Given the description of an element on the screen output the (x, y) to click on. 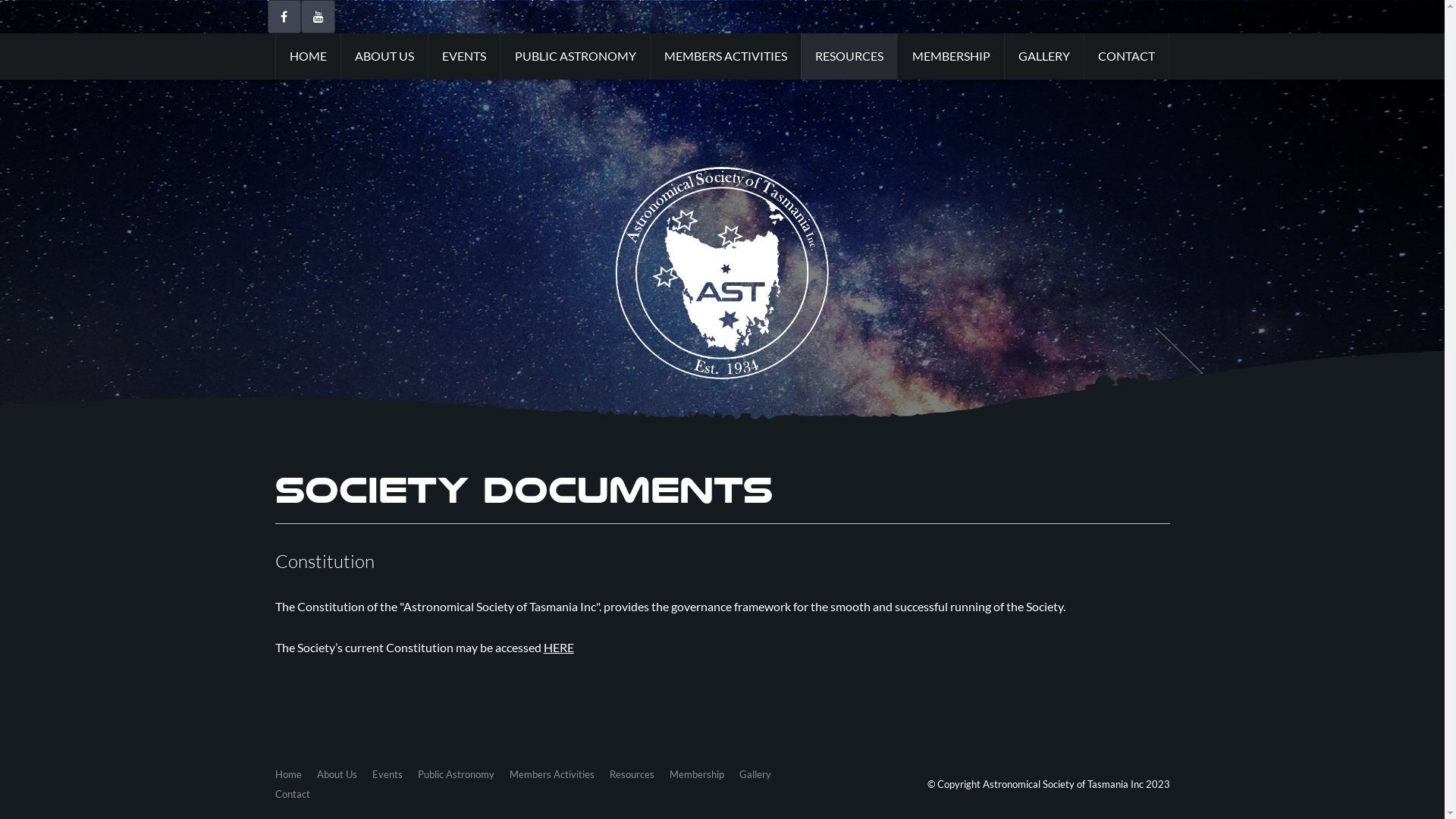
Events Element type: text (386, 774)
Public Astronomy Element type: text (455, 774)
PUBLIC ASTRONOMY Element type: text (574, 56)
CONTACT Element type: text (1126, 56)
Membership Element type: text (696, 774)
HOME Element type: text (306, 56)
RESOURCES Element type: text (848, 56)
MEMBERS ACTIVITIES Element type: text (724, 56)
ABOUT US Element type: text (383, 56)
MEMBERSHIP Element type: text (950, 56)
Home Element type: text (287, 774)
Members Activities Element type: text (552, 774)
Resources Element type: text (632, 774)
Contact Element type: text (291, 793)
About Us Element type: text (336, 774)
EVENTS Element type: text (463, 56)
GALLERY Element type: text (1043, 56)
HERE Element type: text (557, 647)
Gallery Element type: text (754, 774)
